Given the description of an element on the screen output the (x, y) to click on. 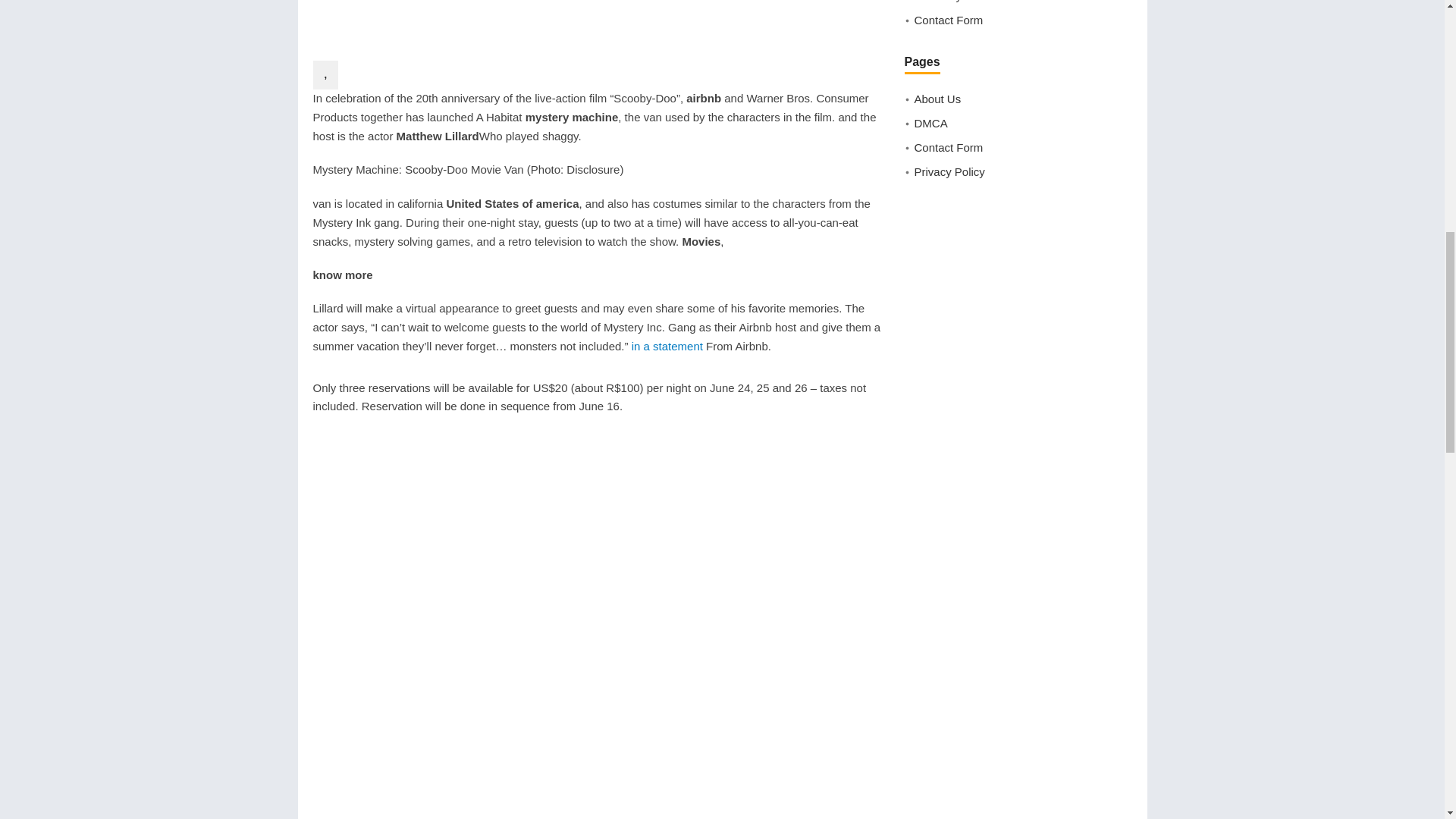
in a statement (667, 345)
, (325, 74)
Advertisement (600, 26)
